Given the description of an element on the screen output the (x, y) to click on. 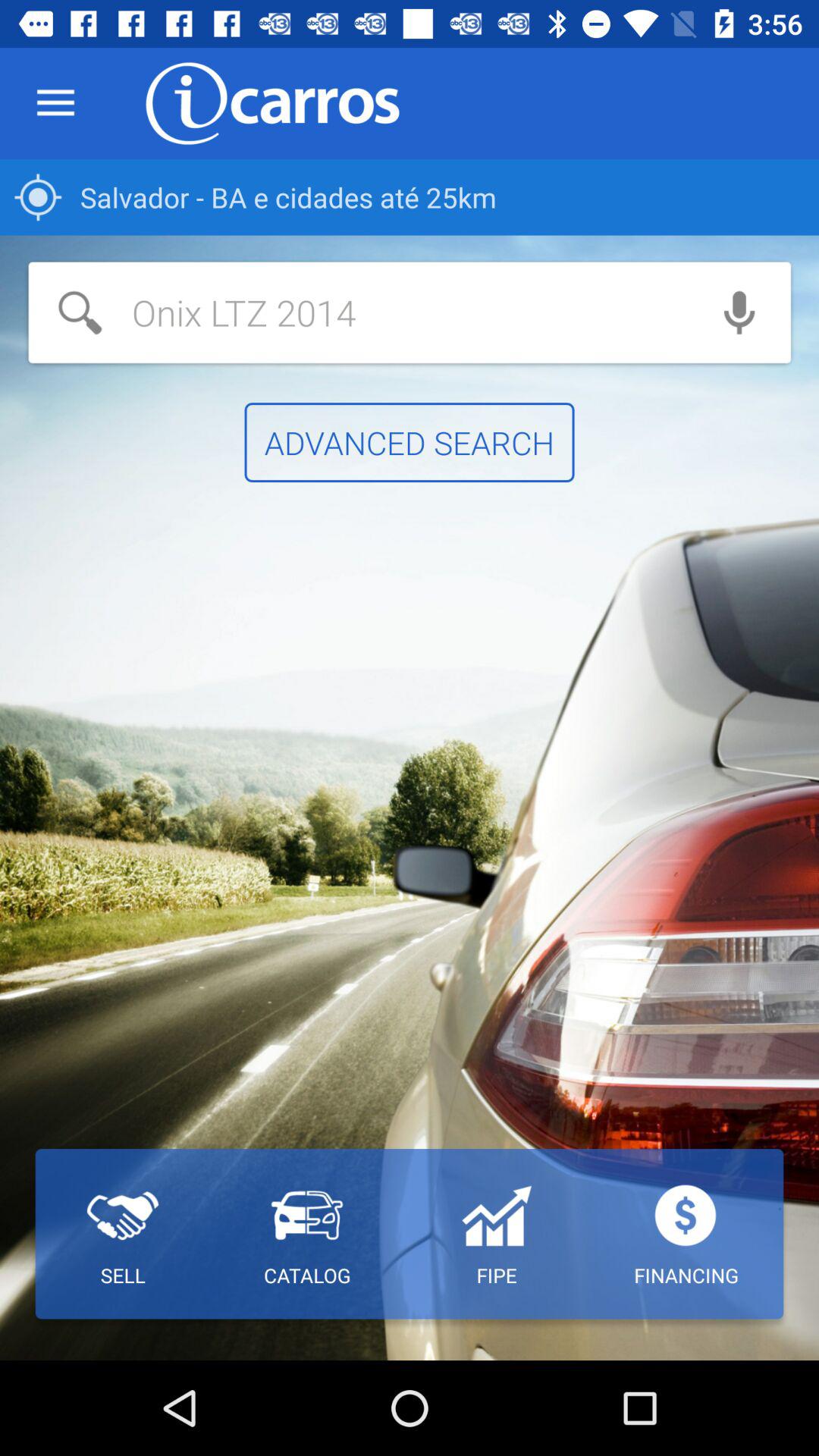
select the item next to catalog icon (496, 1233)
